Given the description of an element on the screen output the (x, y) to click on. 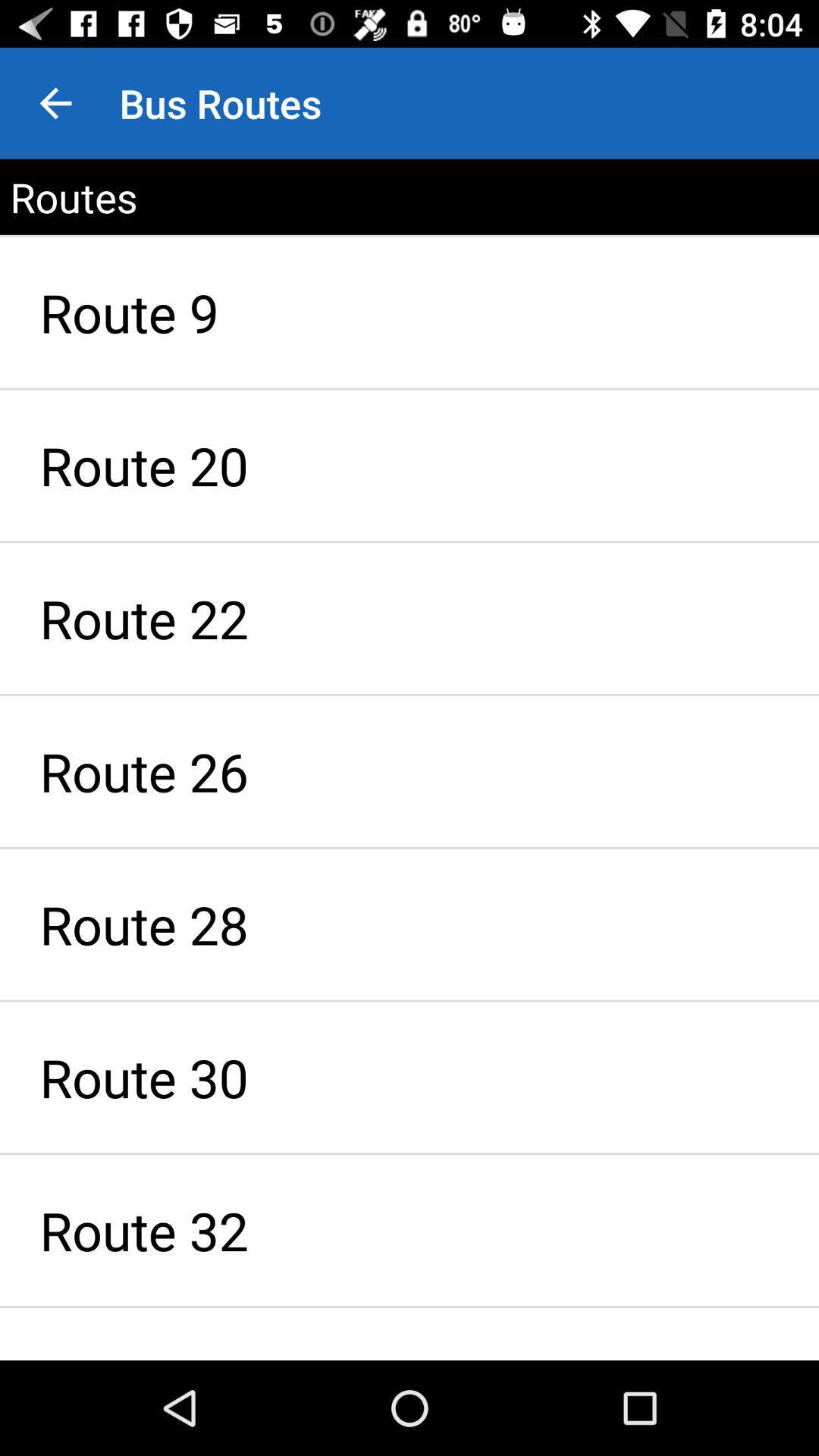
choose route 20 item (409, 465)
